Given the description of an element on the screen output the (x, y) to click on. 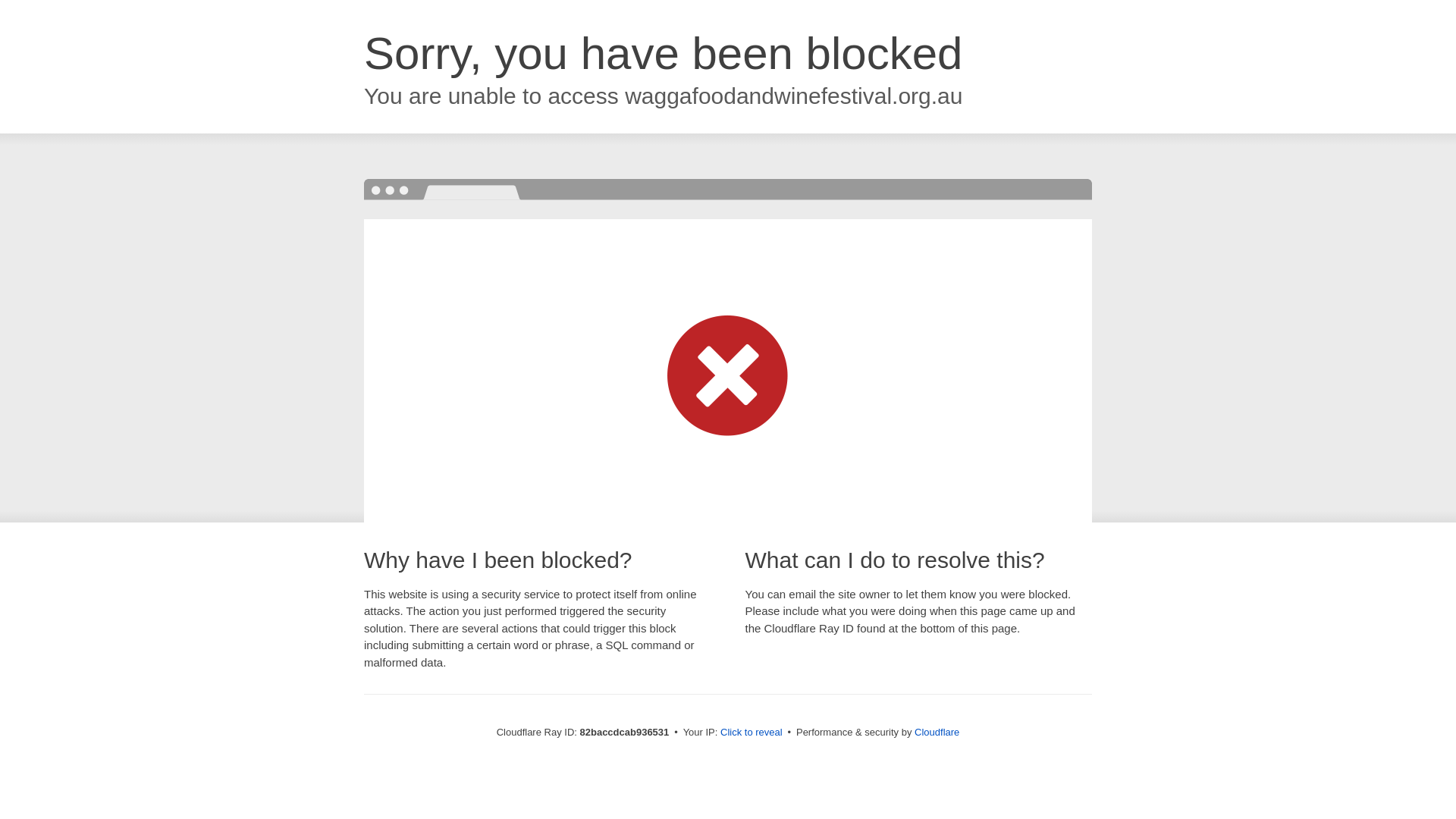
Cloudflare Element type: text (936, 731)
Click to reveal Element type: text (751, 732)
